Given the description of an element on the screen output the (x, y) to click on. 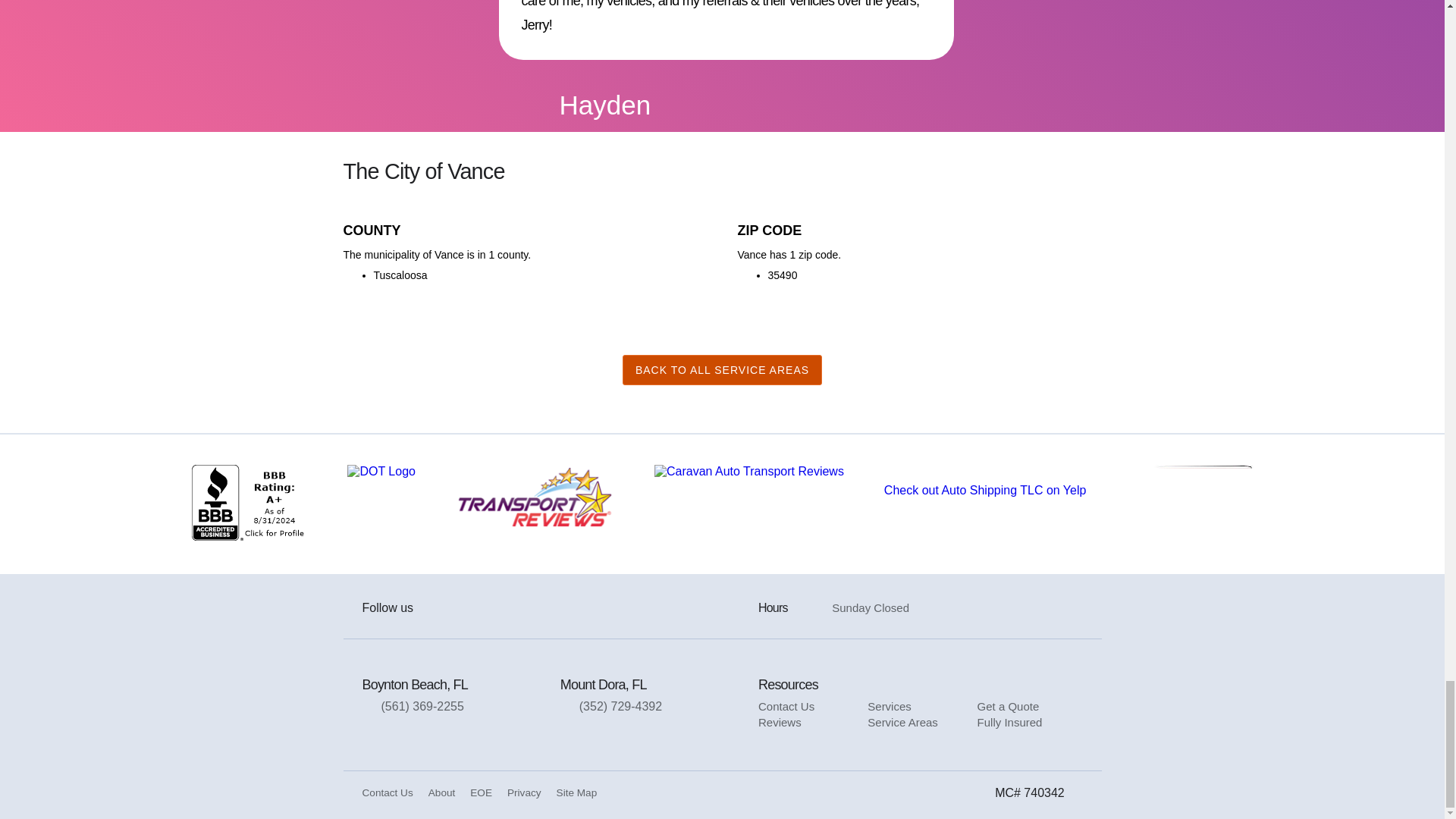
Sunday Closed (877, 608)
Call Auto Shipping TLC (650, 706)
Reviews (780, 721)
Visit Our Google Page (477, 608)
facebook (446, 608)
Contact Us (785, 706)
Fully Insured (1009, 721)
Check out Auto Shipping TLC on Yelp (984, 490)
google (477, 608)
yelp (507, 608)
